Given the description of an element on the screen output the (x, y) to click on. 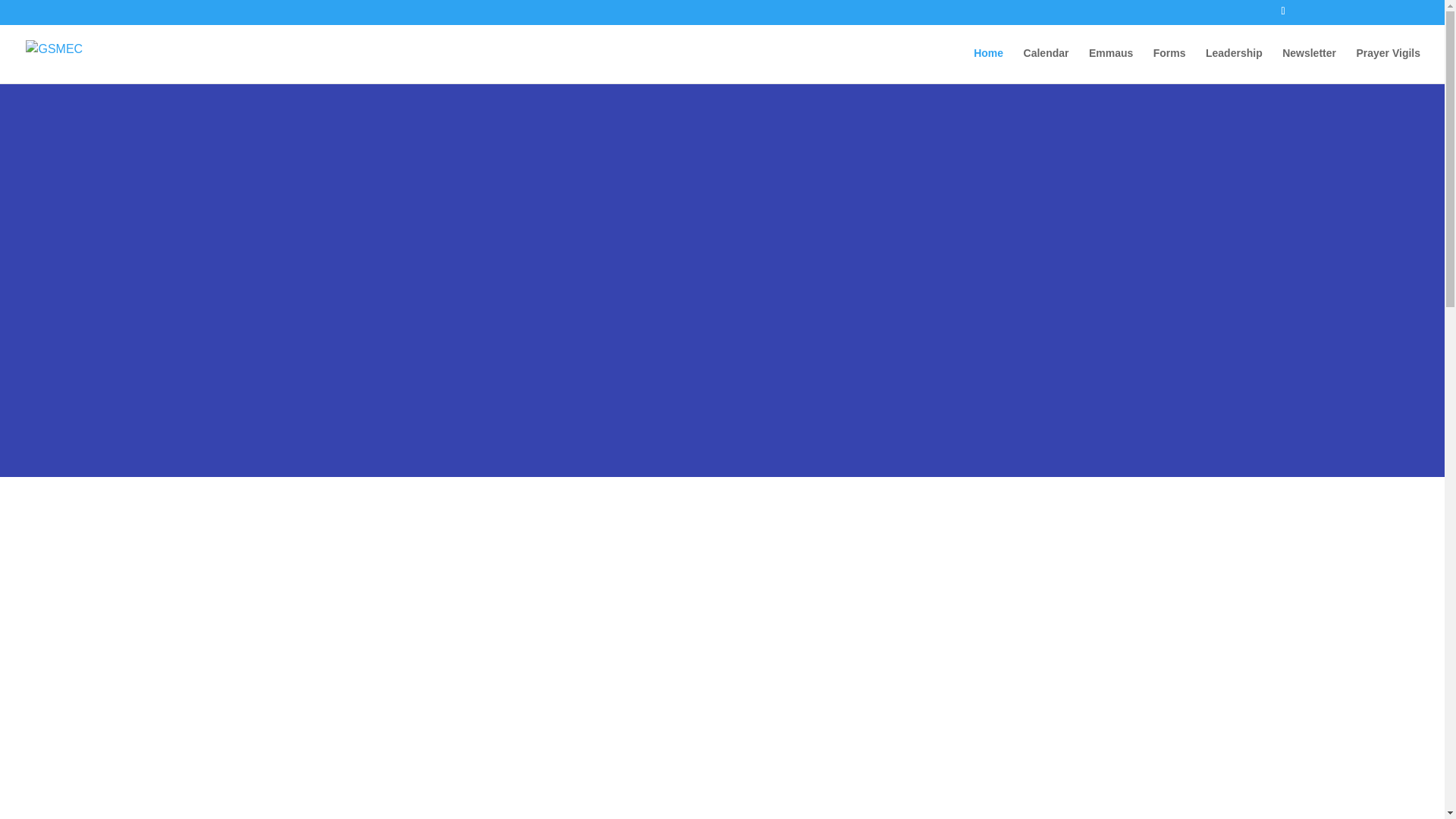
Calendar (1045, 65)
Forms (1169, 65)
Emmaus (1110, 65)
Leadership (1233, 65)
Prayer Vigils (1388, 65)
Newsletter (1309, 65)
